Given the description of an element on the screen output the (x, y) to click on. 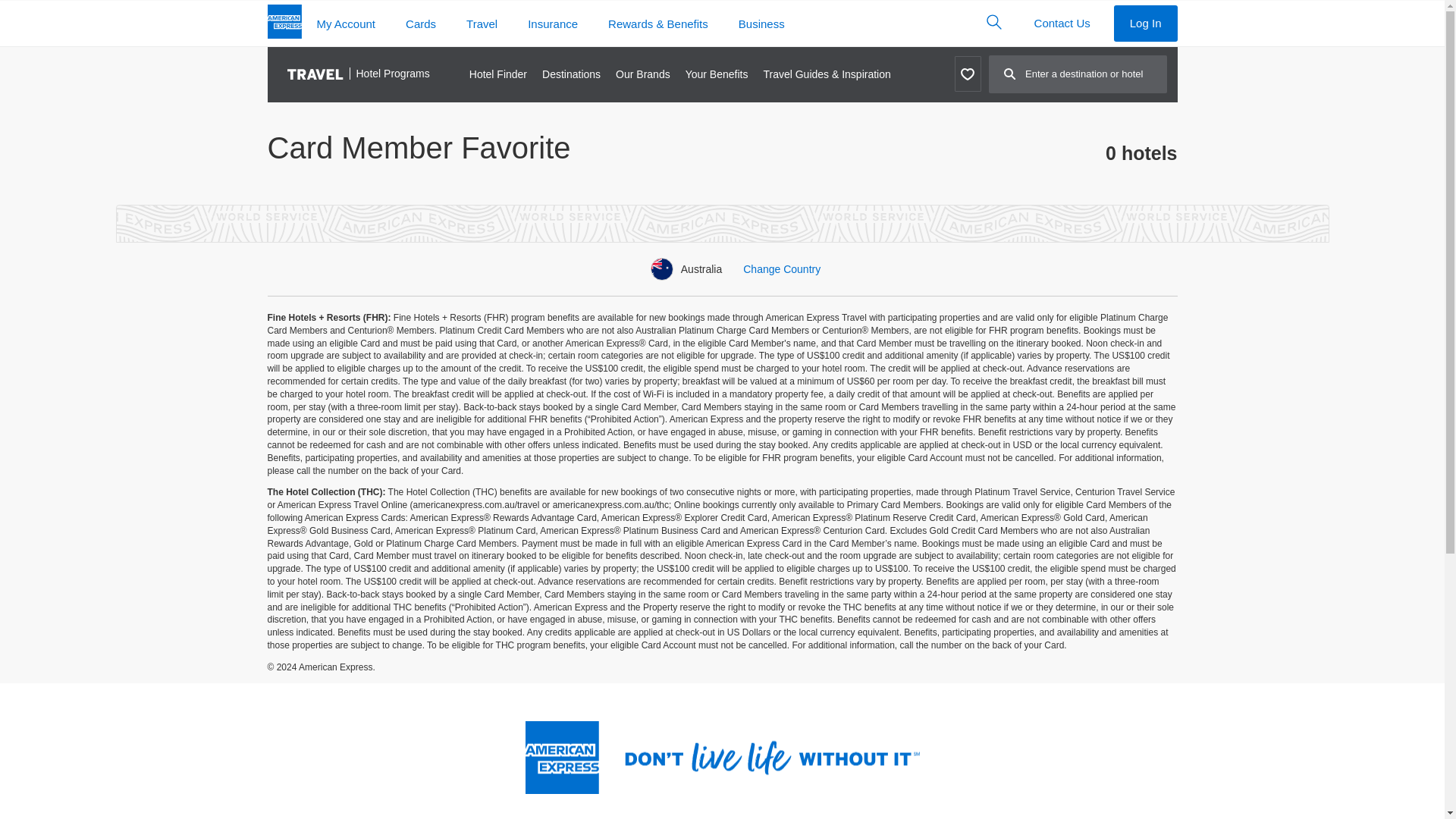
Search (994, 21)
